Given the description of an element on the screen output the (x, y) to click on. 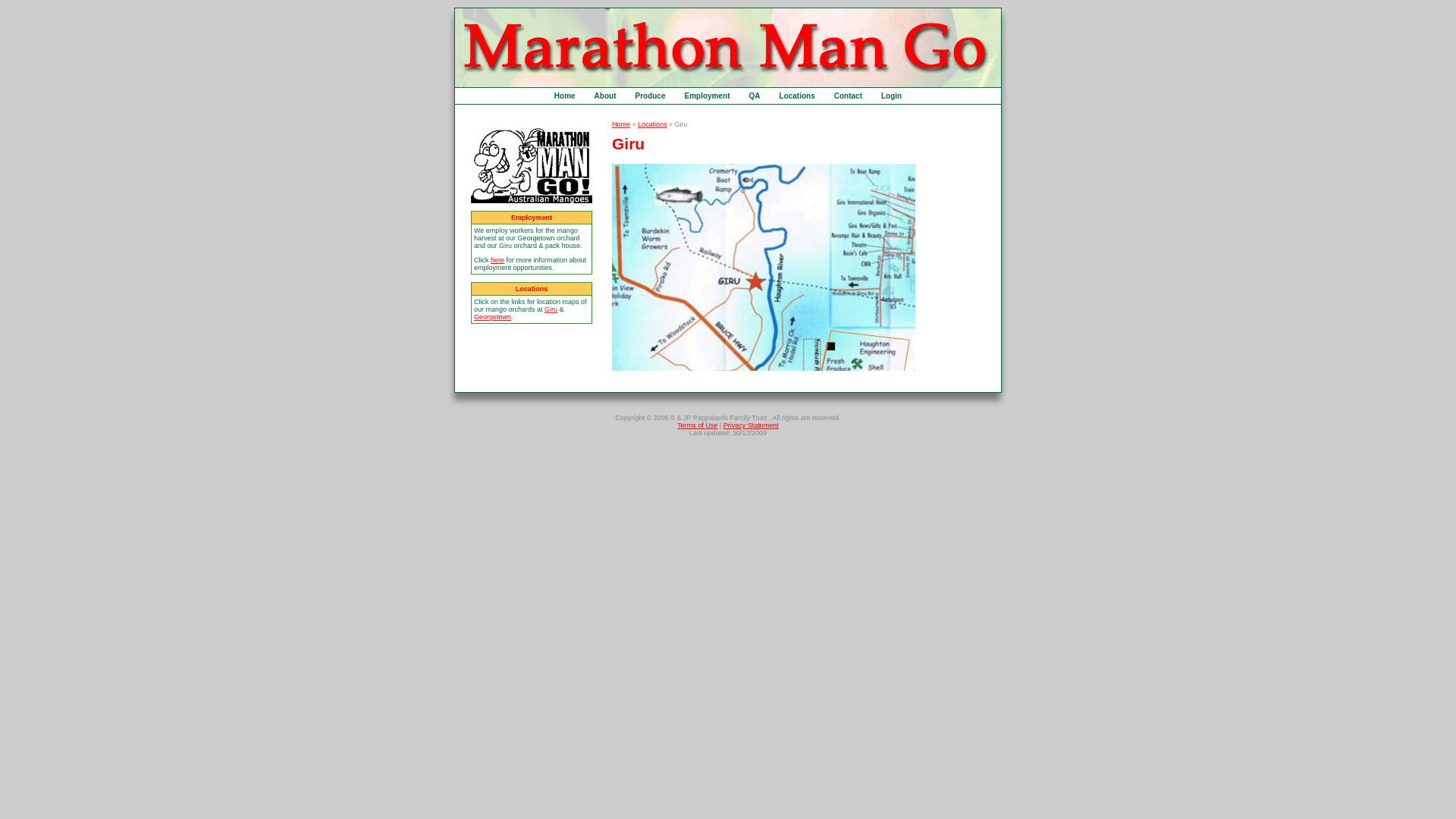
Home Element type: text (564, 95)
Home Element type: text (620, 124)
Privacy Statement Element type: text (750, 425)
Georgetown Element type: text (492, 316)
Locations Element type: text (652, 124)
Produce Element type: text (649, 95)
here Element type: text (497, 259)
Contact Element type: text (848, 95)
Giru Element type: text (550, 309)
Terms of Use Element type: text (697, 425)
Locations Element type: text (797, 95)
Employment Element type: text (706, 95)
Login Element type: text (891, 95)
About Element type: text (605, 95)
QA Element type: text (754, 95)
